Given the description of an element on the screen output the (x, y) to click on. 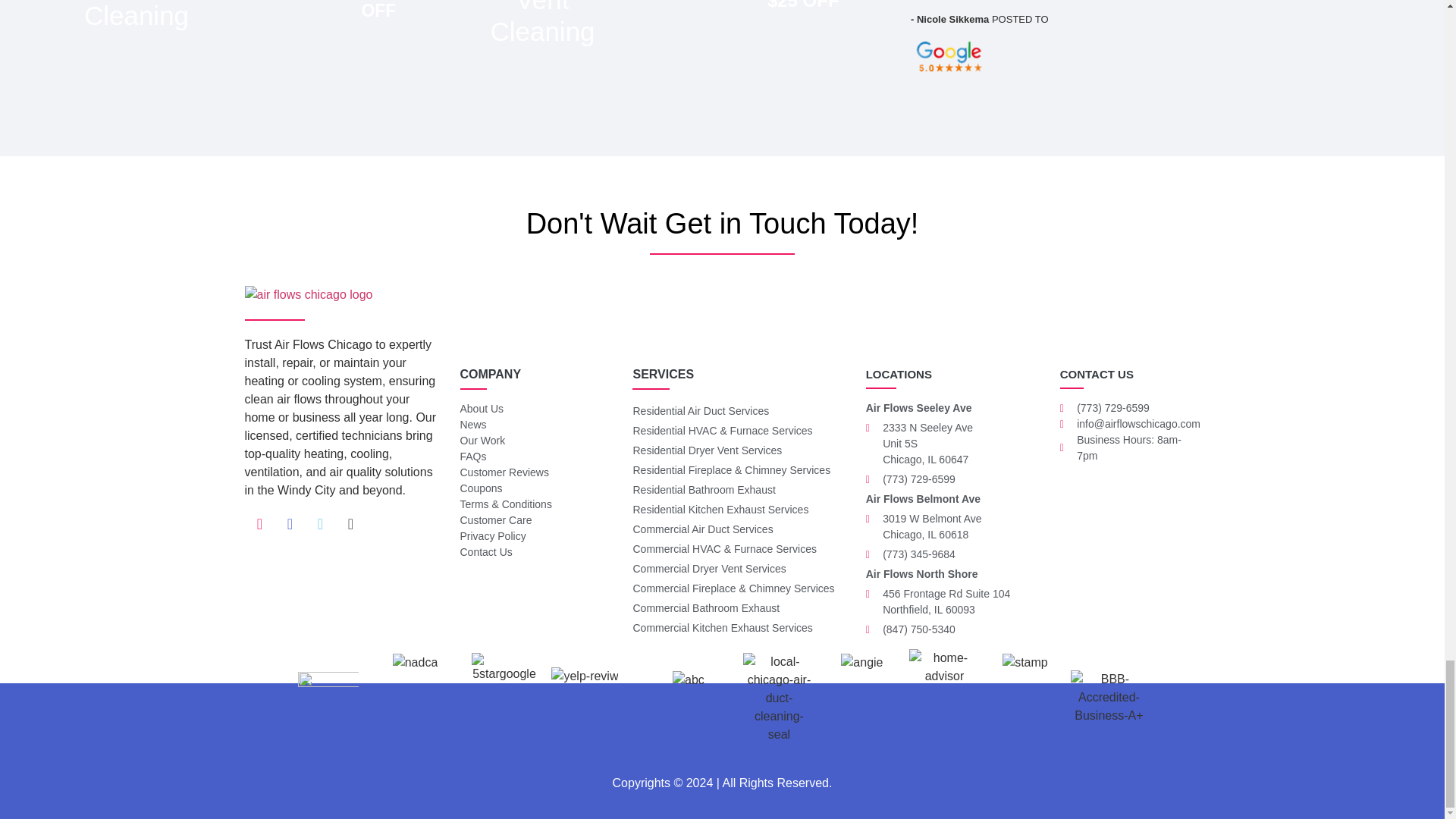
air-flows-logo (308, 294)
abc (688, 679)
nadca (415, 662)
yelp-reviw (584, 676)
5stargoogle (503, 667)
